Given the description of an element on the screen output the (x, y) to click on. 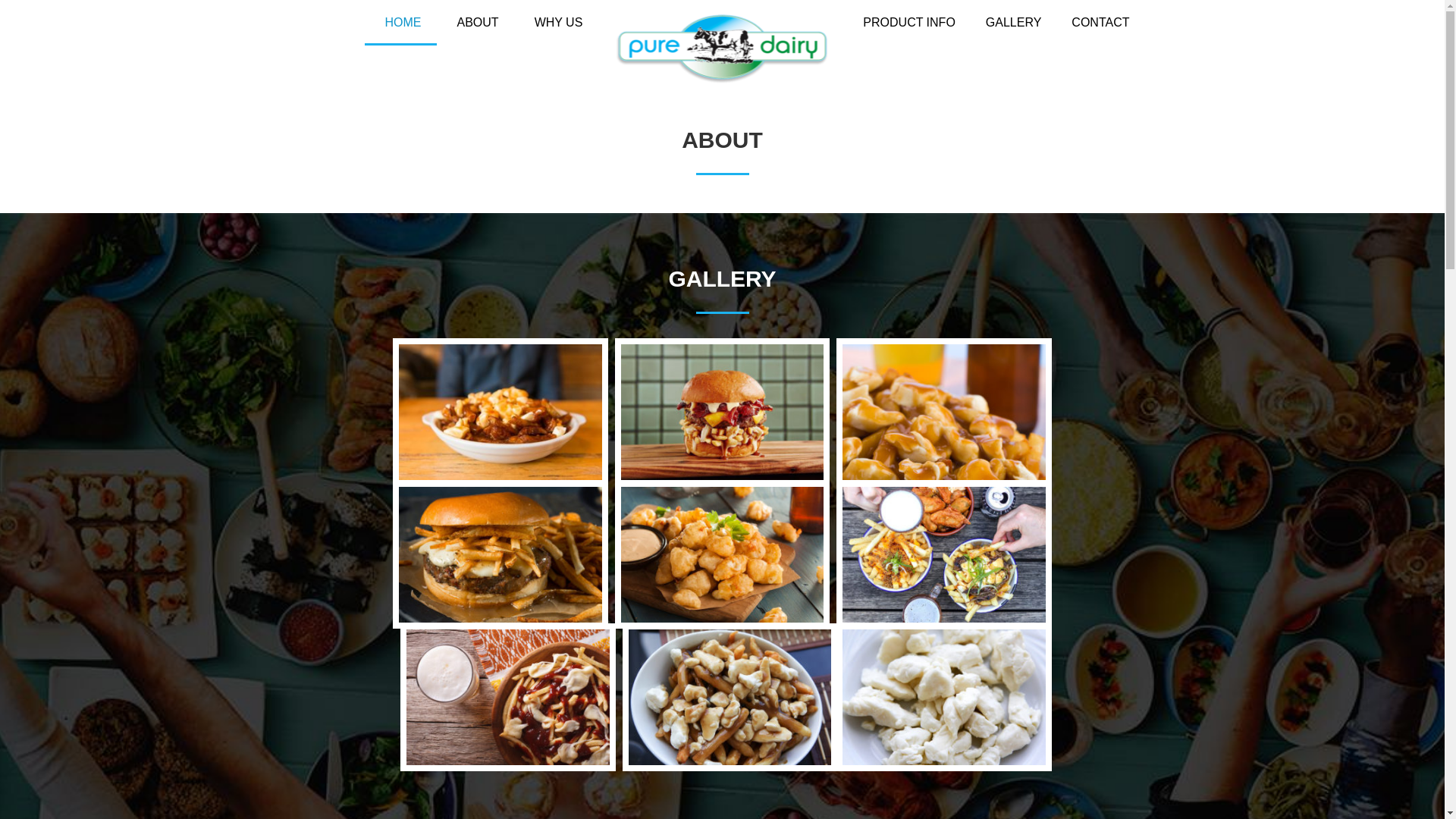
HOME (399, 22)
GALLERY (1014, 22)
CONTACT (1100, 22)
ABOUT (474, 22)
WHY US (555, 22)
PRODUCT INFO (908, 22)
